Given the description of an element on the screen output the (x, y) to click on. 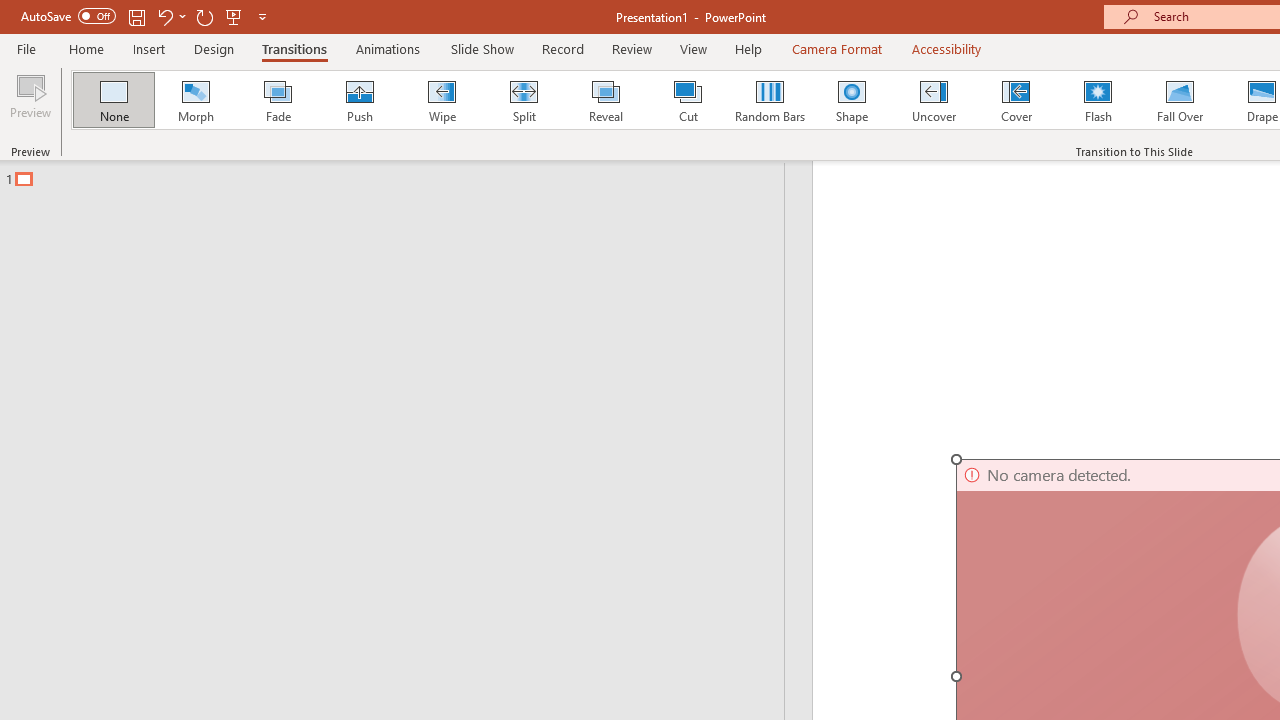
Outline (401, 174)
Fall Over (1180, 100)
Wipe (441, 100)
